Given the description of an element on the screen output the (x, y) to click on. 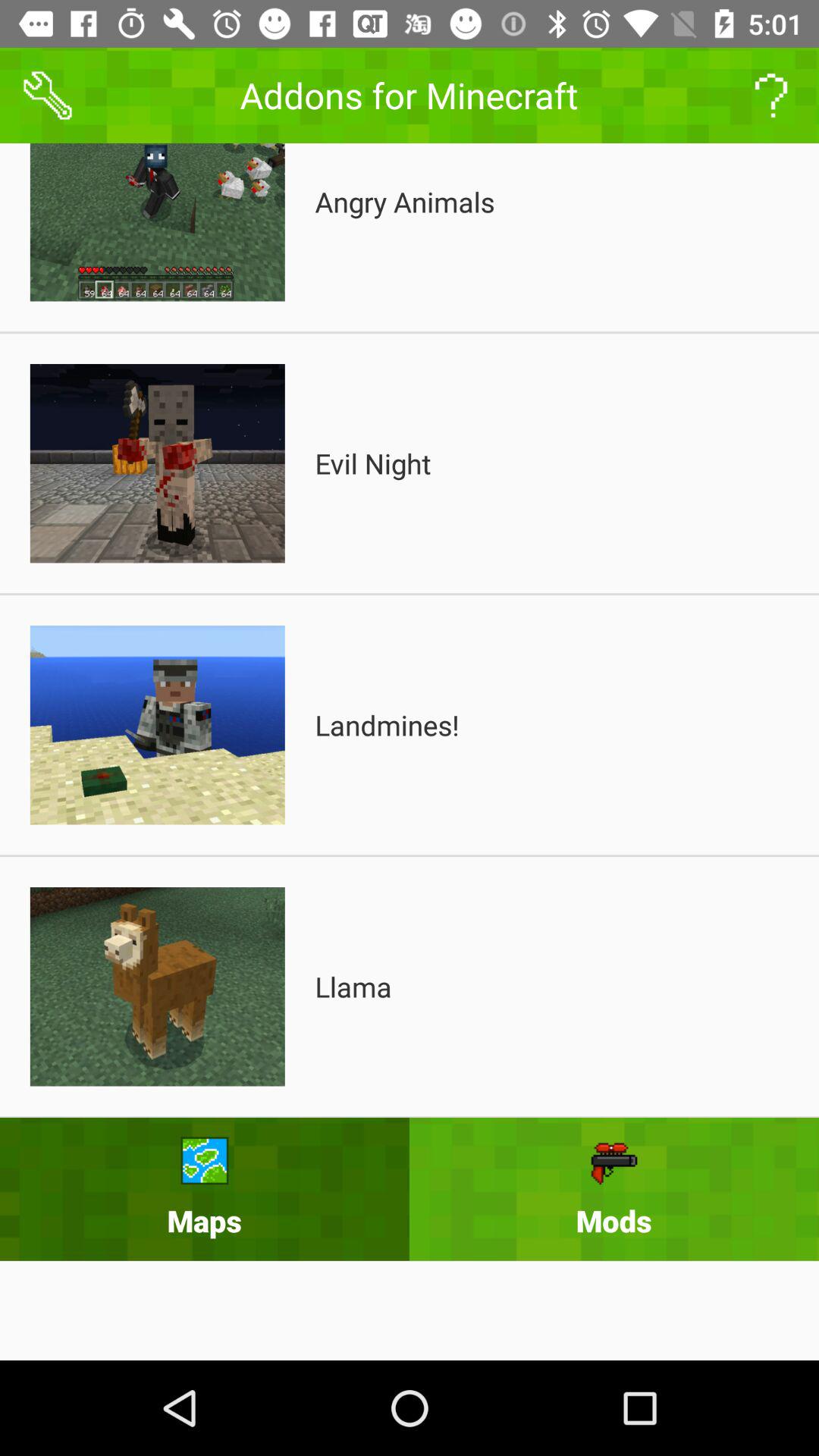
access tools (47, 95)
